Given the description of an element on the screen output the (x, y) to click on. 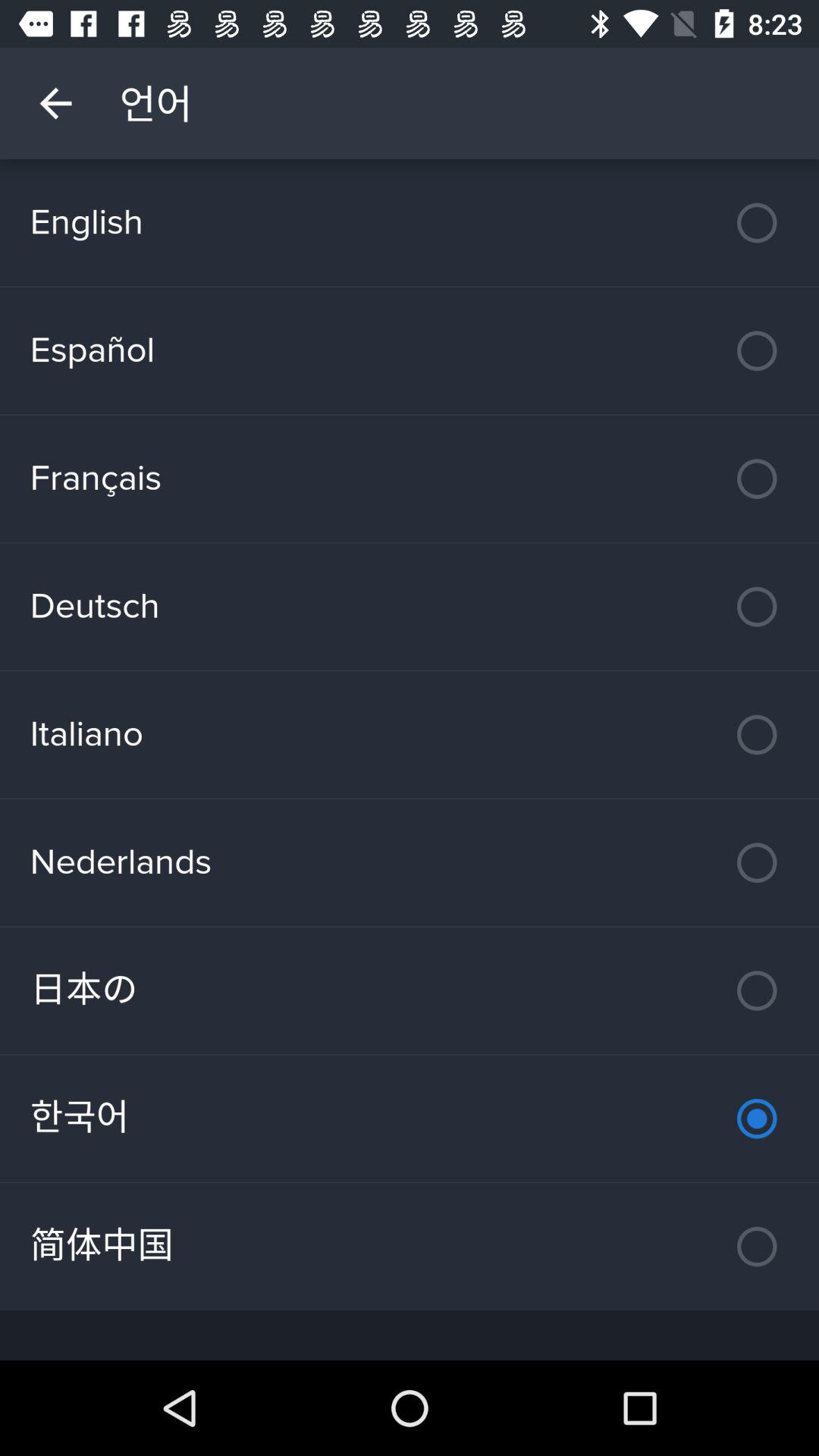
flip to deutsch (409, 606)
